Given the description of an element on the screen output the (x, y) to click on. 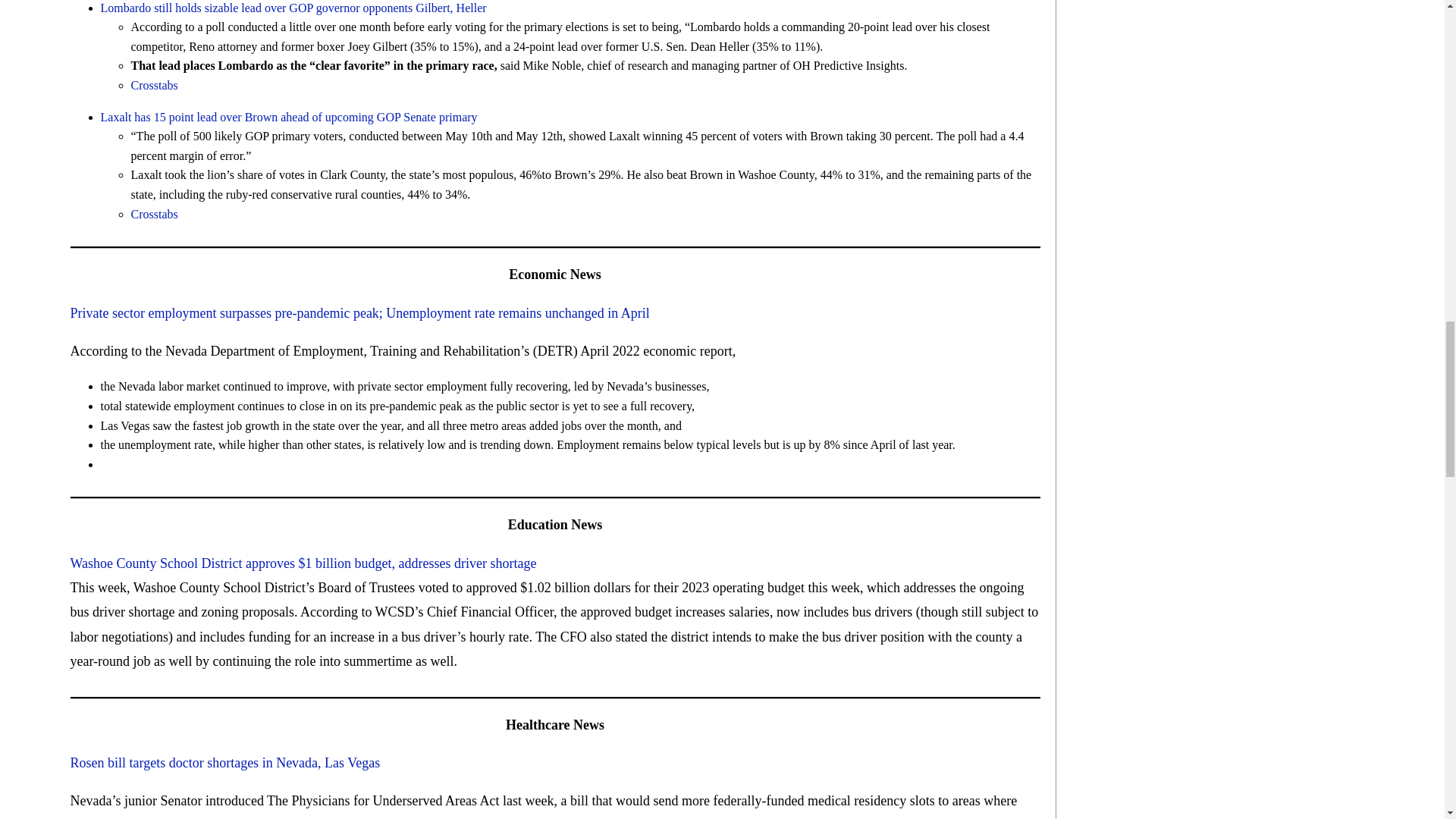
Crosstabs (154, 214)
Rosen bill targets doctor shortages in Nevada, Las Vegas (224, 762)
Crosstabs (154, 84)
